Given the description of an element on the screen output the (x, y) to click on. 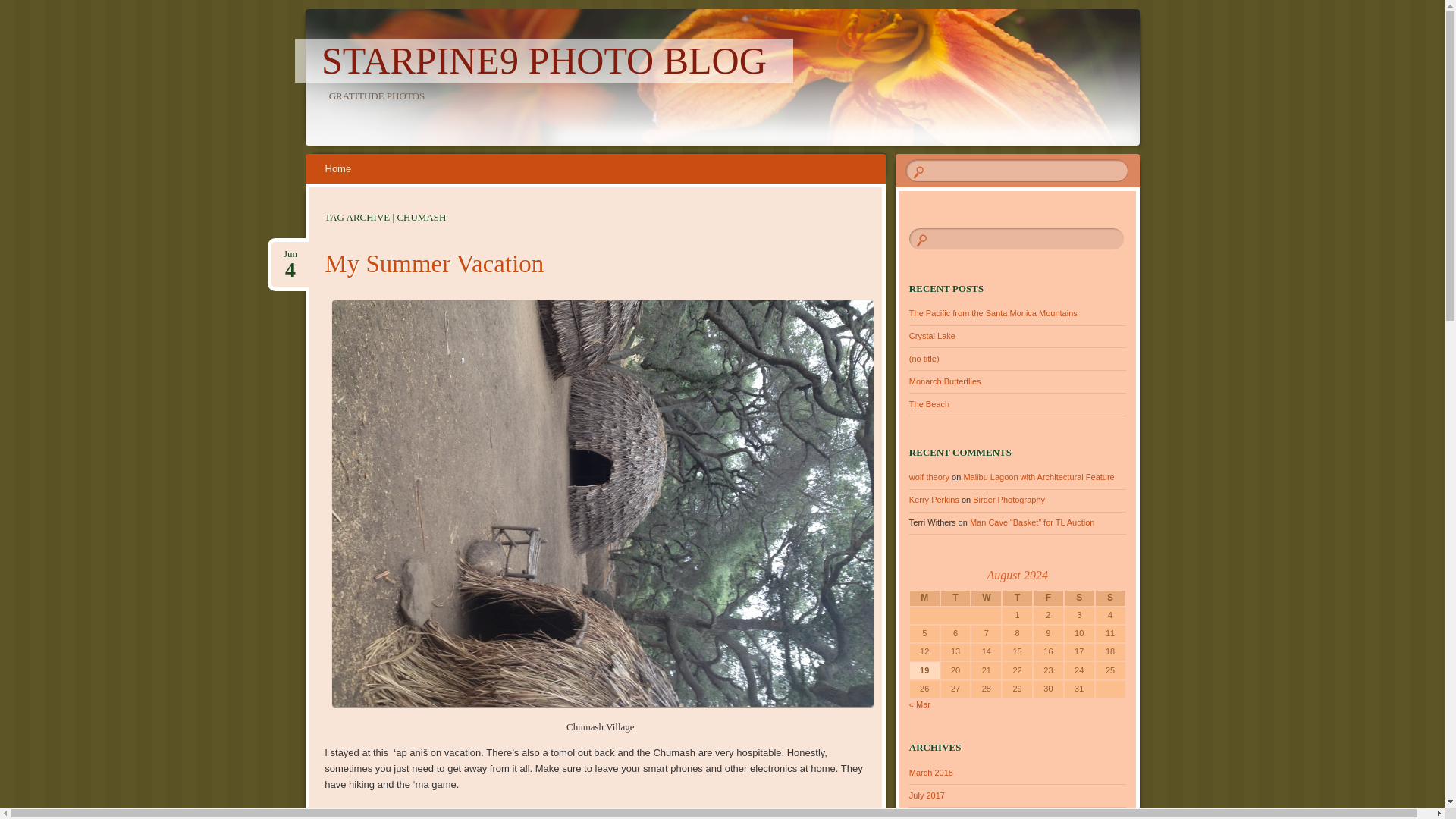
The Beach (928, 403)
My Summer Vacation (433, 263)
Thursday (1016, 597)
Search (21, 7)
Tuesday (955, 597)
The Pacific from the Santa Monica Mountains (992, 312)
Monarch Butterflies (944, 380)
STARPINE9 PHOTO BLOG (544, 60)
Starpine9 Photo Blog (544, 60)
March 2018 (930, 772)
